Given the description of an element on the screen output the (x, y) to click on. 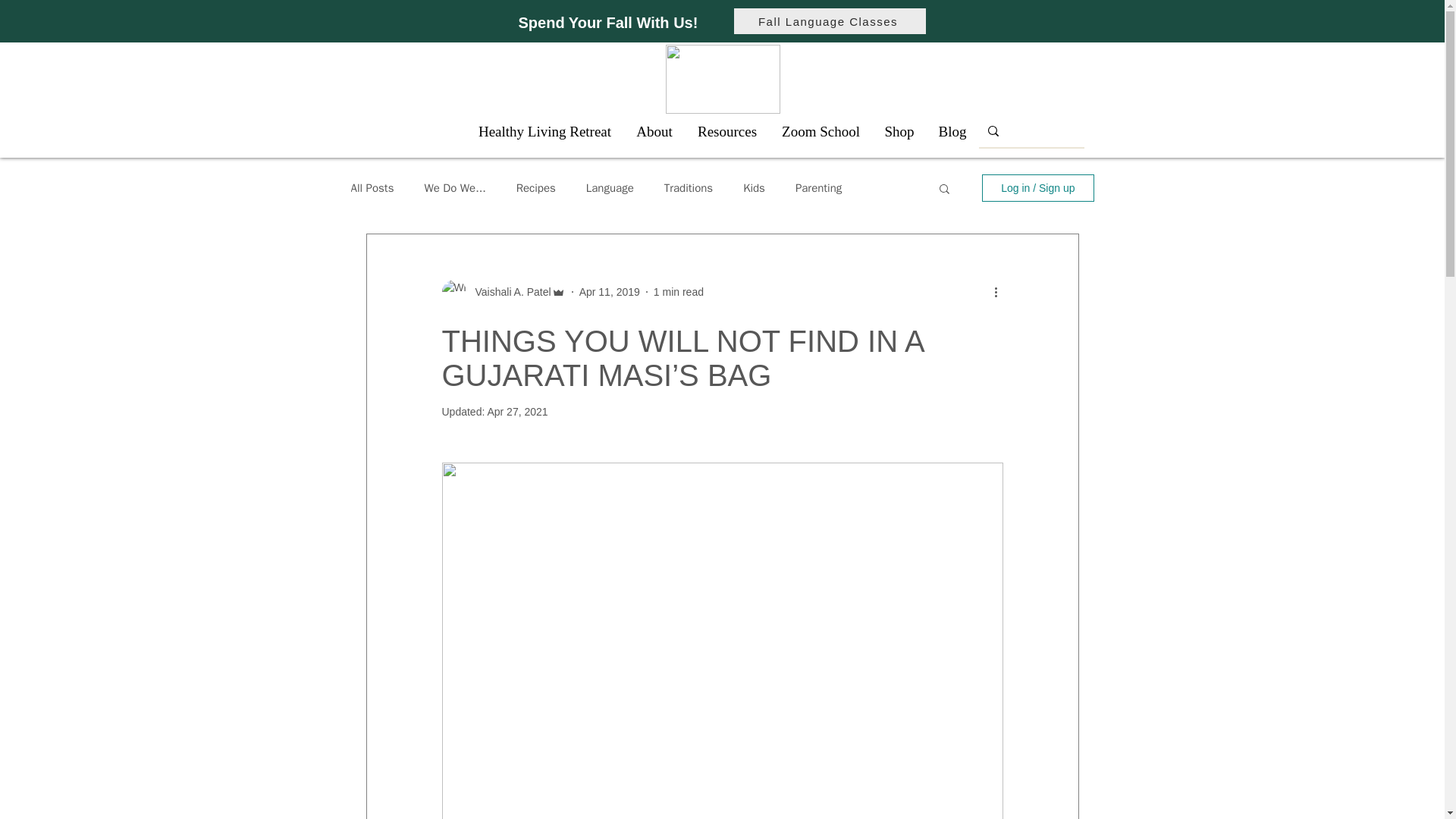
Fall Language Classes (829, 21)
Recipes (536, 187)
Parenting (817, 187)
Healthy Living Retreat (544, 131)
Vaishali A. Patel (507, 291)
Blog (952, 131)
Sanskar Teaching Logo-A8.png (722, 79)
Kids (753, 187)
Apr 27, 2021 (516, 411)
1 min read (678, 291)
